Given the description of an element on the screen output the (x, y) to click on. 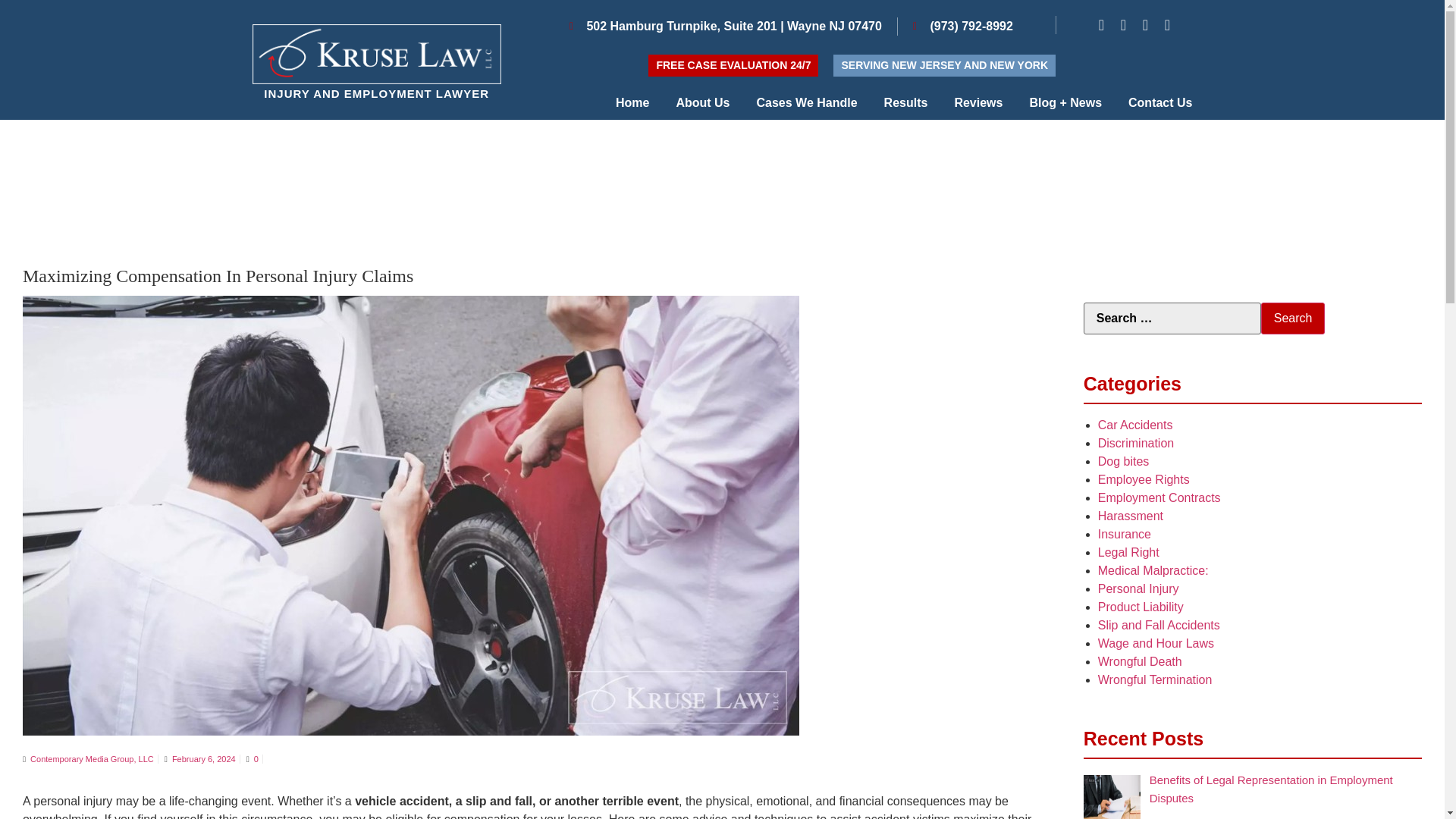
Cases We Handle (807, 102)
Results (905, 102)
Reviews (978, 102)
Search (1292, 318)
SERVING NEW JERSEY AND NEW YORK (943, 65)
Home (632, 102)
Contact Us (1160, 102)
Car Accidents (1135, 424)
Benefits of Legal Representation in Employment Disputes 1 (1111, 796)
Posts by Contemporary Media Group, LLC (92, 758)
February 6, 2024 (203, 758)
About Us (702, 102)
Contemporary Media Group, LLC (92, 758)
Search (1292, 318)
Search (1292, 318)
